Given the description of an element on the screen output the (x, y) to click on. 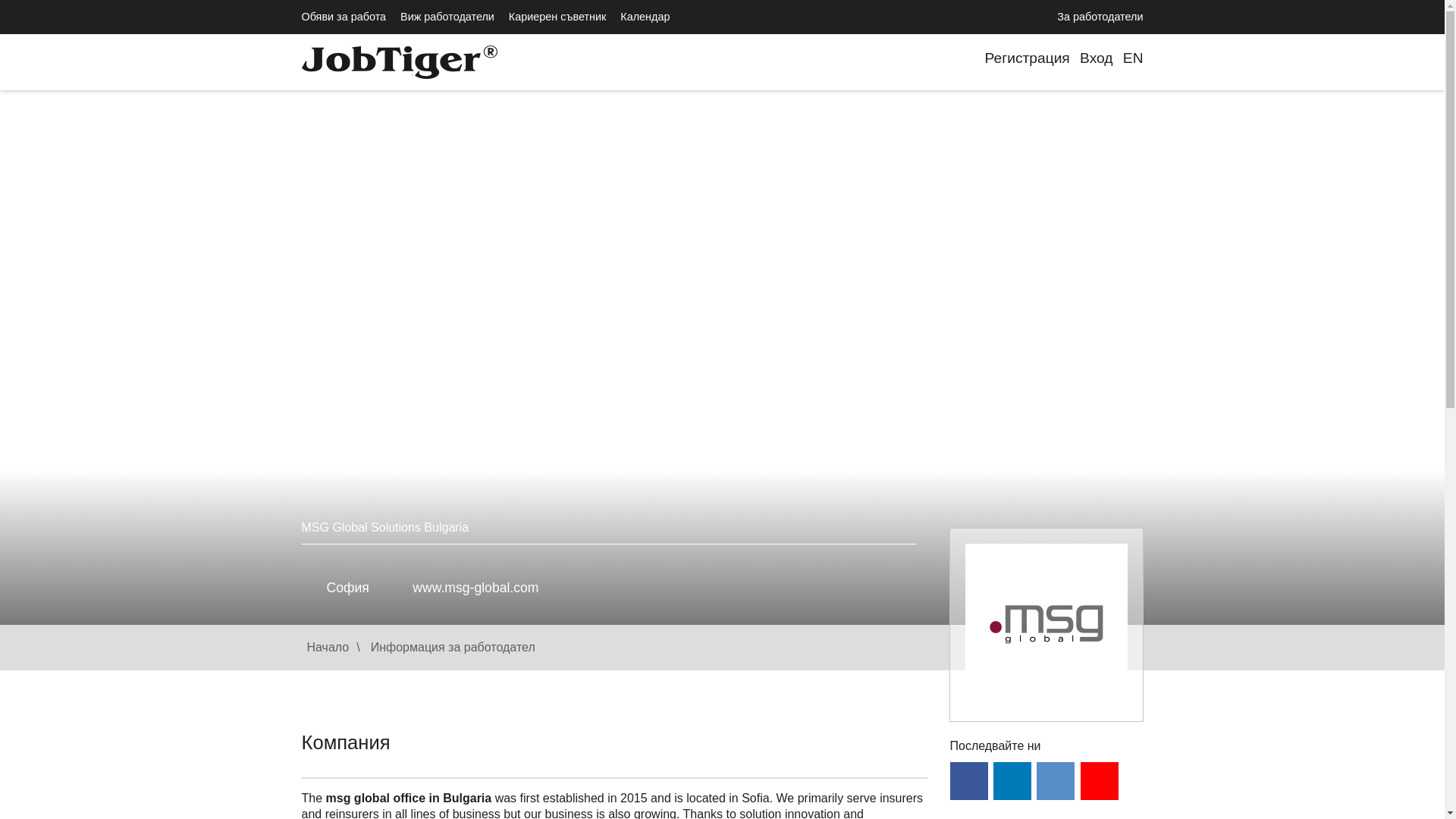
English (1132, 57)
www.msg-global.com (475, 587)
EN (1132, 57)
